Given the description of an element on the screen output the (x, y) to click on. 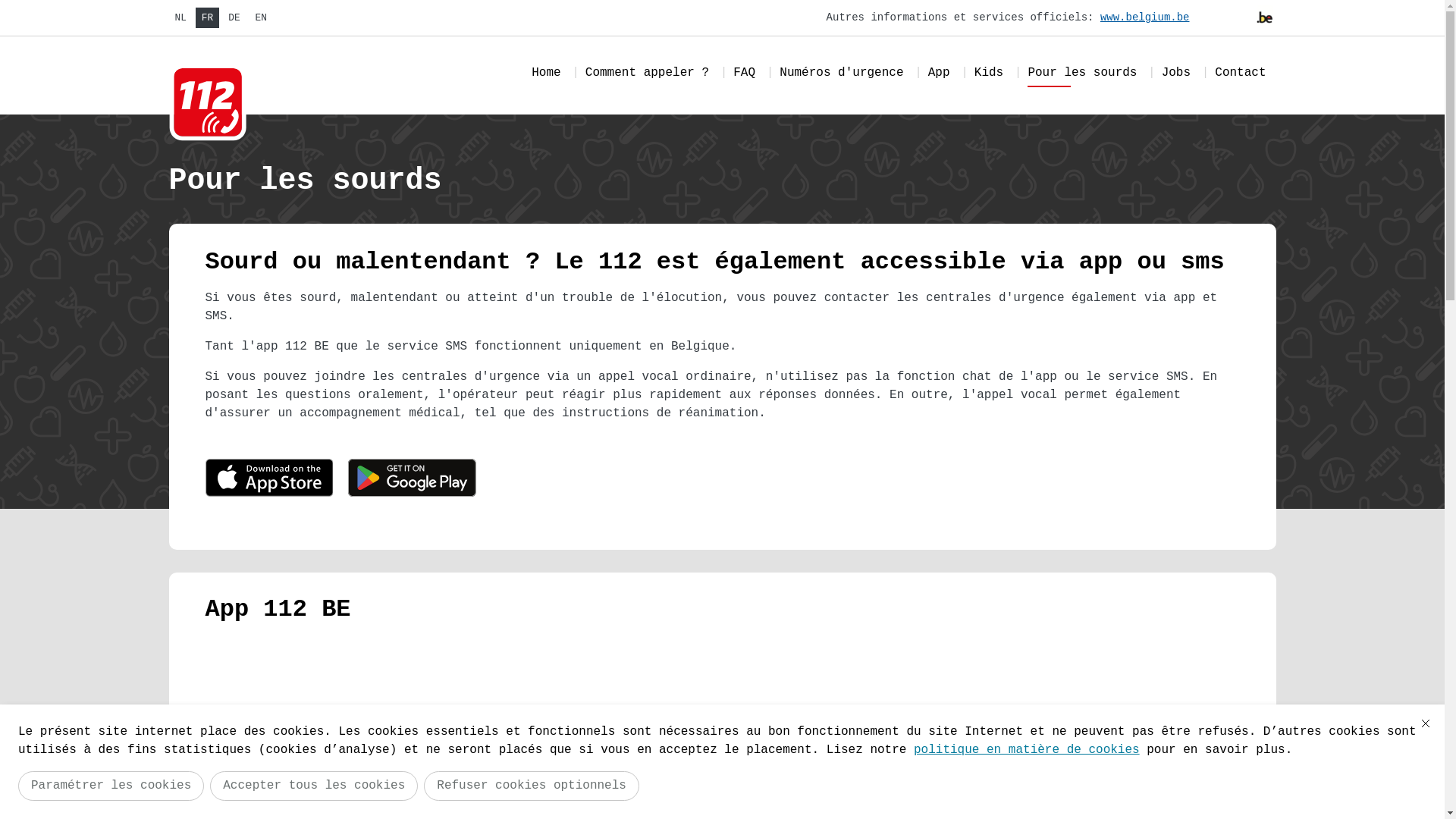
FAQ Element type: text (744, 75)
Aller au contenu principal Element type: text (7, 4)
Pour les sourds Element type: text (1081, 75)
EN Element type: text (261, 17)
FR Element type: text (207, 17)
Comment appeler ? Element type: text (647, 75)
DE Element type: text (233, 17)
image/svg+xml Element type: text (412, 480)
Refuser cookies optionnels Element type: text (531, 785)
Jobs Element type: text (1175, 75)
Kids Element type: text (988, 75)
App Element type: text (939, 75)
Contact Element type: text (1239, 75)
Accepter tous les cookies Element type: text (313, 785)
Home Element type: text (545, 75)
Fermer Element type: hover (1425, 723)
App Store Element type: hover (268, 480)
NL Element type: text (179, 17)
Back to the homepage Element type: hover (207, 102)
www.belgium.be Element type: text (1146, 17)
